Given the description of an element on the screen output the (x, y) to click on. 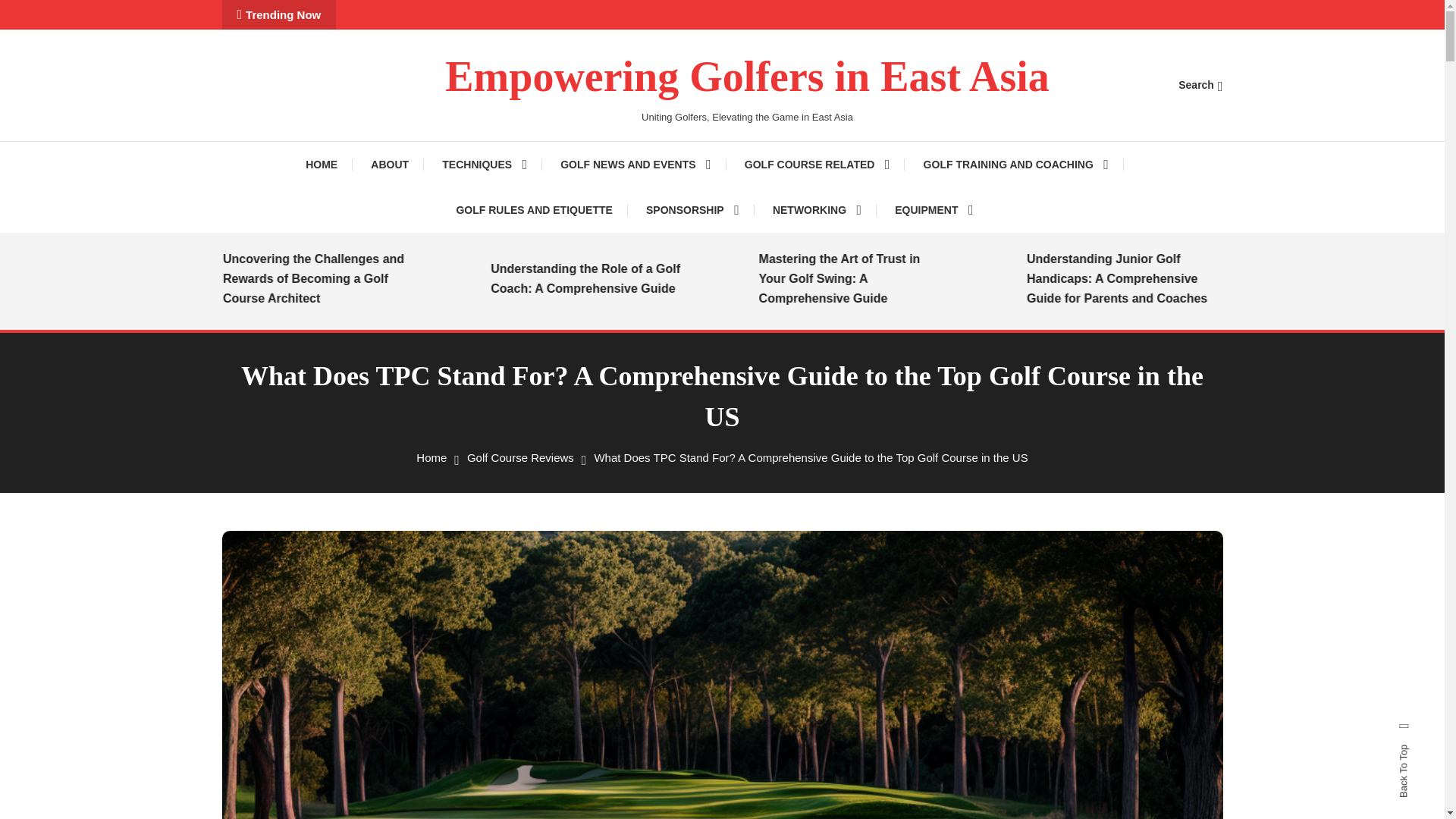
TECHNIQUES (483, 164)
GOLF RULES AND ETIQUETTE (534, 209)
Search (768, 434)
Search (1200, 84)
NETWORKING (816, 209)
HOME (328, 164)
GOLF NEWS AND EVENTS (634, 164)
GOLF COURSE RELATED (817, 164)
SPONSORSHIP (692, 209)
GOLF TRAINING AND COACHING (1016, 164)
